Given the description of an element on the screen output the (x, y) to click on. 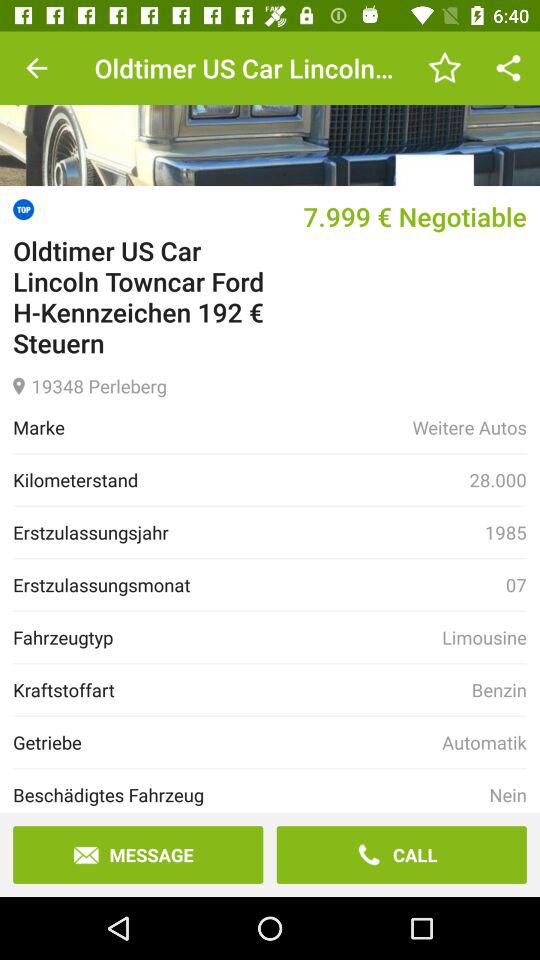
choose icon next to getriebe item (484, 742)
